Given the description of an element on the screen output the (x, y) to click on. 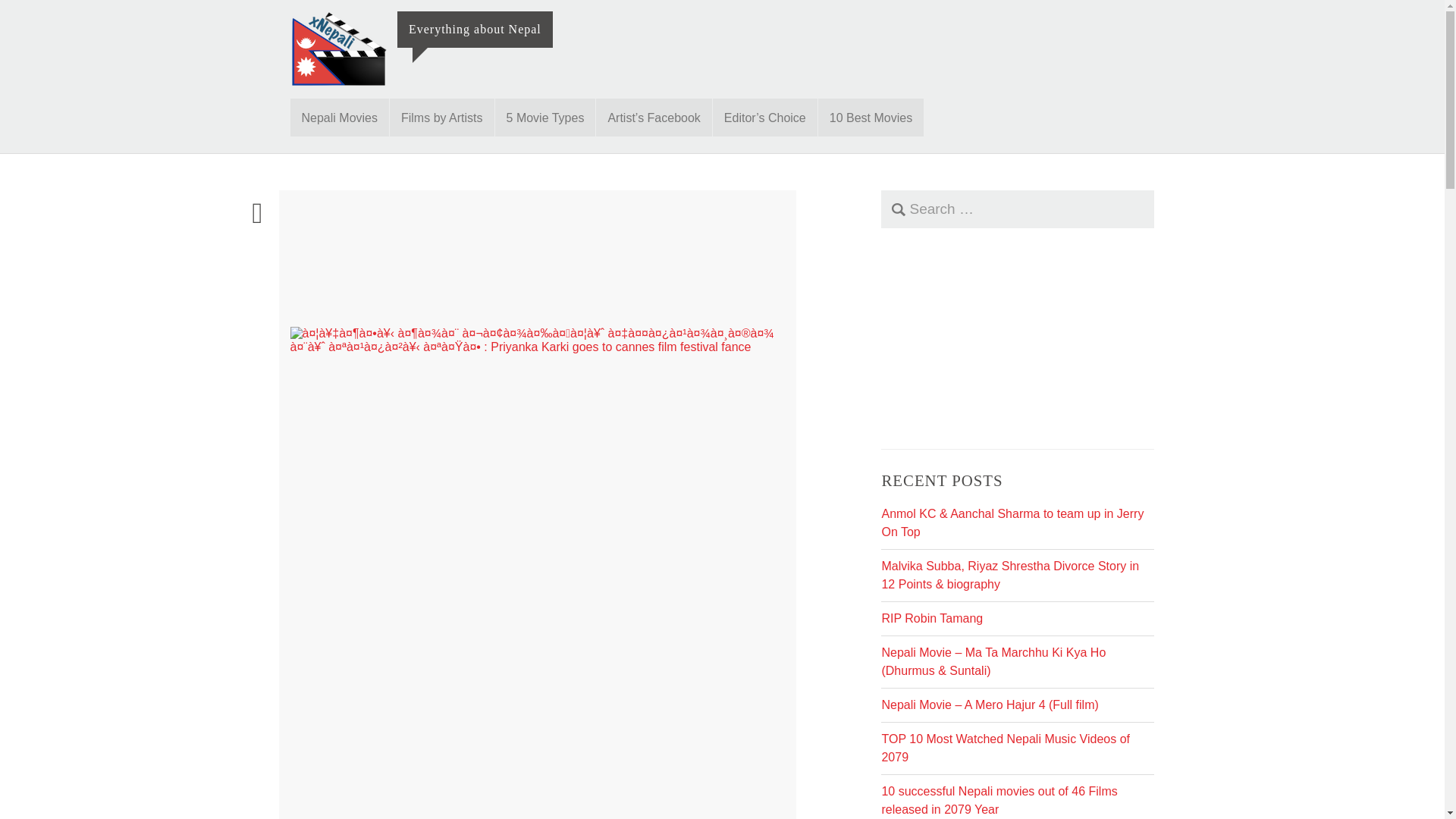
5 Movie Types (545, 117)
10 Best Movies (870, 117)
Nepali Movies (338, 117)
10 Best Movies (870, 117)
May 20, 2019 (366, 262)
RIP Robin Tamang (931, 617)
Nepali Movies (338, 117)
Anand Nepal (438, 262)
Editor's Choice (764, 117)
Films by Artists (442, 117)
Films by Artists (442, 117)
5 Movie Types (545, 117)
Artist's Facebook (653, 117)
TOP 10 Most Watched Nepali Music Videos of 2079 (1004, 747)
